Given the description of an element on the screen output the (x, y) to click on. 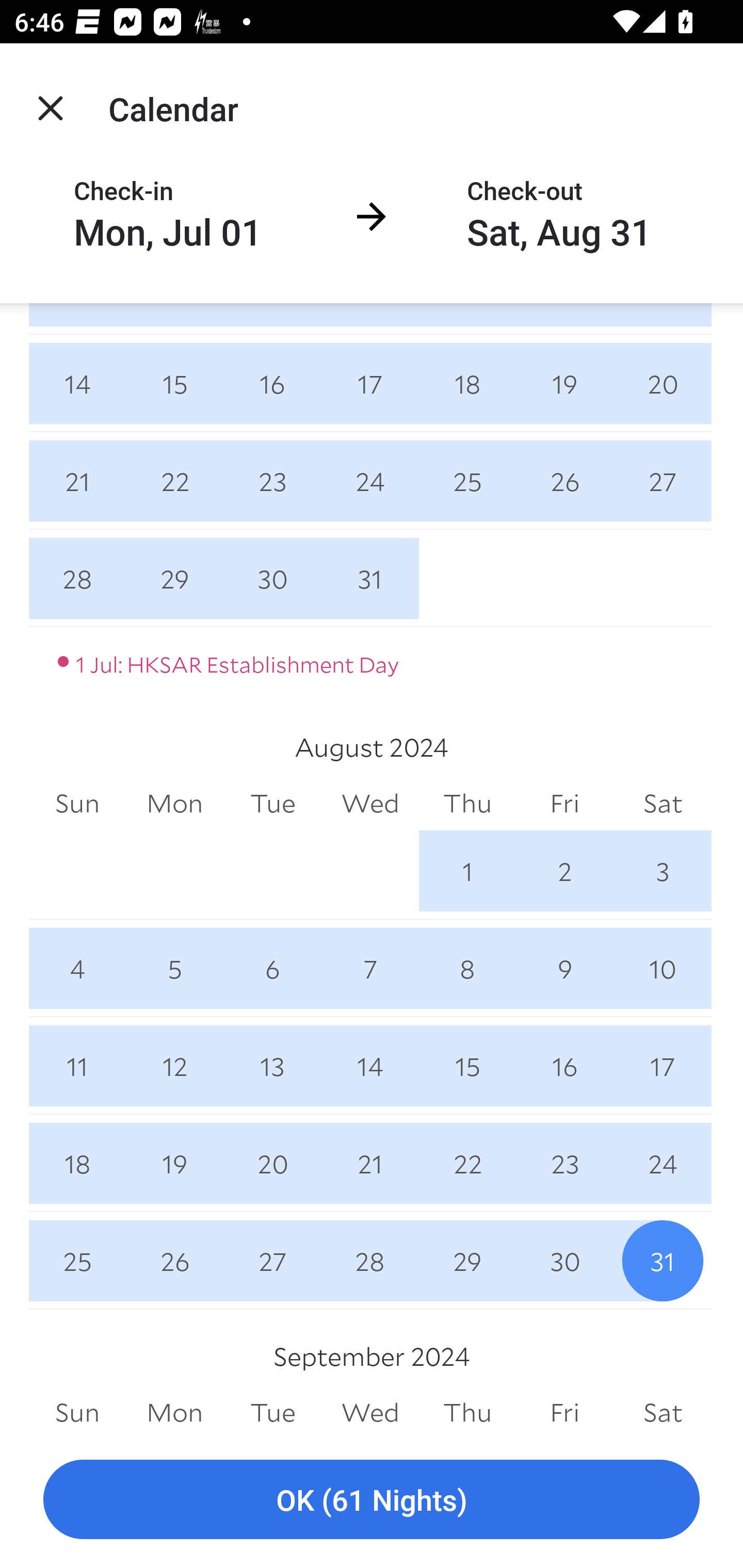
14 14 July 2024 (77, 382)
15 15 July 2024 (174, 382)
16 16 July 2024 (272, 382)
17 17 July 2024 (370, 382)
18 18 July 2024 (467, 382)
19 19 July 2024 (564, 382)
20 20 July 2024 (662, 382)
21 21 July 2024 (77, 480)
22 22 July 2024 (174, 480)
23 23 July 2024 (272, 480)
24 24 July 2024 (370, 480)
25 25 July 2024 (467, 480)
26 26 July 2024 (564, 480)
27 27 July 2024 (662, 480)
28 28 July 2024 (77, 578)
29 29 July 2024 (174, 578)
30 30 July 2024 (272, 578)
31 31 July 2024 (370, 578)
Sun (77, 803)
Mon (174, 803)
Tue (272, 803)
Wed (370, 803)
Thu (467, 803)
Fri (564, 803)
Sat (662, 803)
1 1 August 2024 (467, 870)
2 2 August 2024 (564, 870)
3 3 August 2024 (662, 870)
4 4 August 2024 (77, 968)
5 5 August 2024 (174, 968)
6 6 August 2024 (272, 968)
7 7 August 2024 (370, 968)
8 8 August 2024 (467, 968)
9 9 August 2024 (564, 968)
10 10 August 2024 (662, 968)
11 11 August 2024 (77, 1065)
12 12 August 2024 (174, 1065)
13 13 August 2024 (272, 1065)
14 14 August 2024 (370, 1065)
15 15 August 2024 (467, 1065)
16 16 August 2024 (564, 1065)
17 17 August 2024 (662, 1065)
18 18 August 2024 (77, 1163)
19 19 August 2024 (174, 1163)
20 20 August 2024 (272, 1163)
21 21 August 2024 (370, 1163)
22 22 August 2024 (467, 1163)
23 23 August 2024 (564, 1163)
24 24 August 2024 (662, 1163)
